Given the description of an element on the screen output the (x, y) to click on. 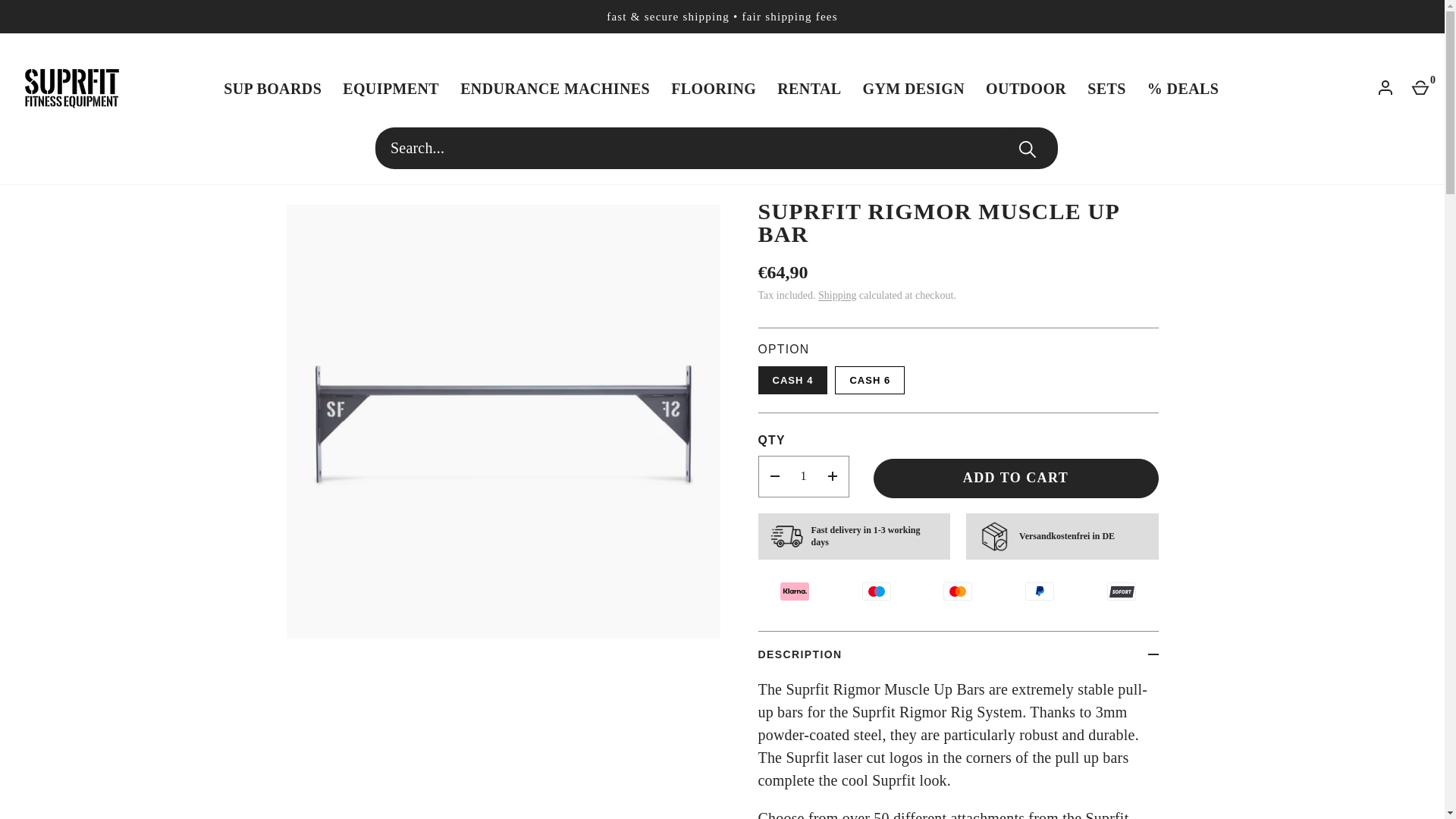
EQUIPMENT (390, 88)
ENDURANCE MACHINES (555, 88)
1 (802, 476)
SUP BOARDS (271, 88)
FLOORING (714, 88)
RENTAL (809, 88)
